Given the description of an element on the screen output the (x, y) to click on. 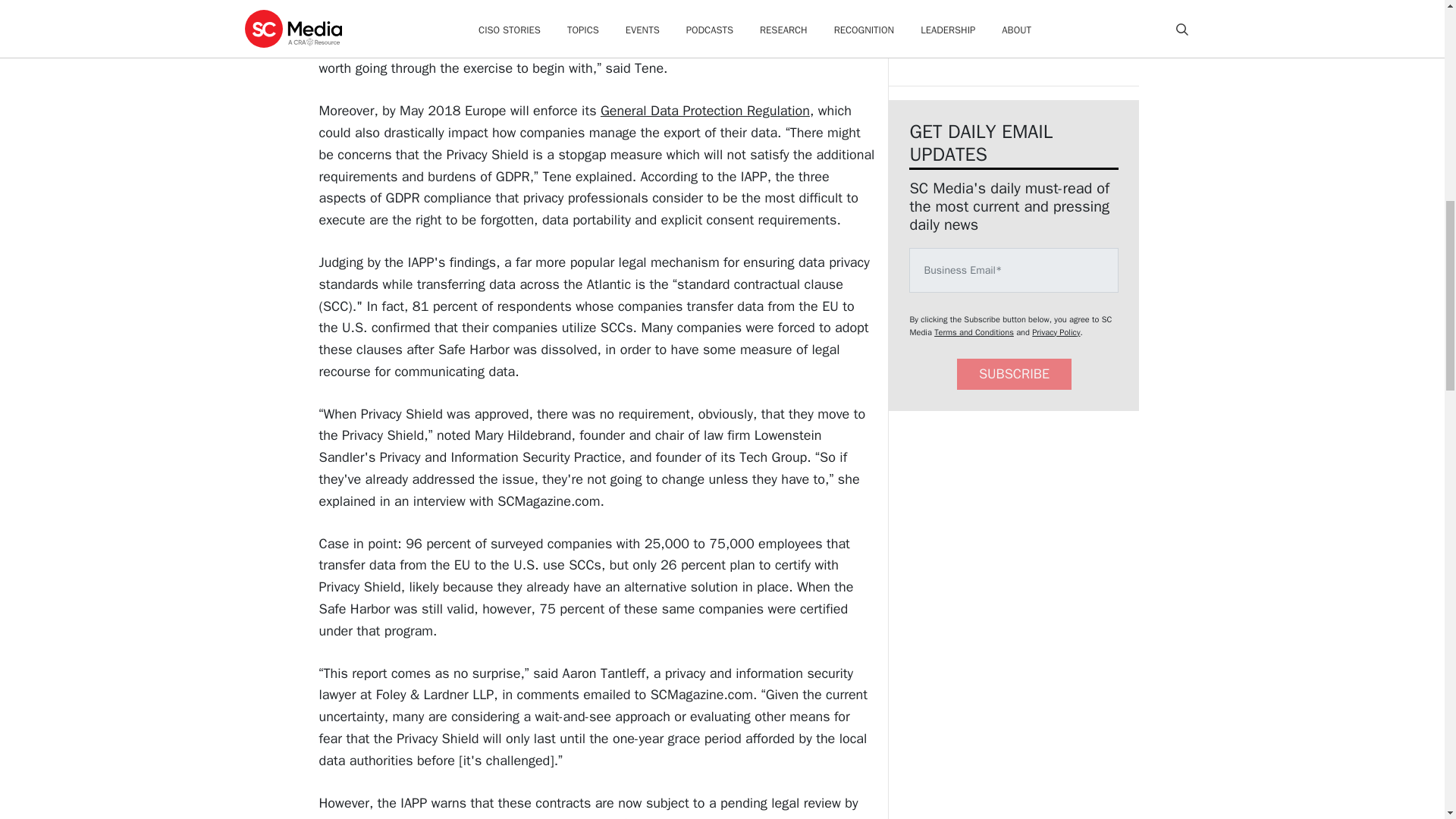
Privacy Policy (1056, 331)
SUBSCRIBE (1013, 373)
General Data Protection Regulation (704, 110)
Terms and Conditions (973, 331)
